Given the description of an element on the screen output the (x, y) to click on. 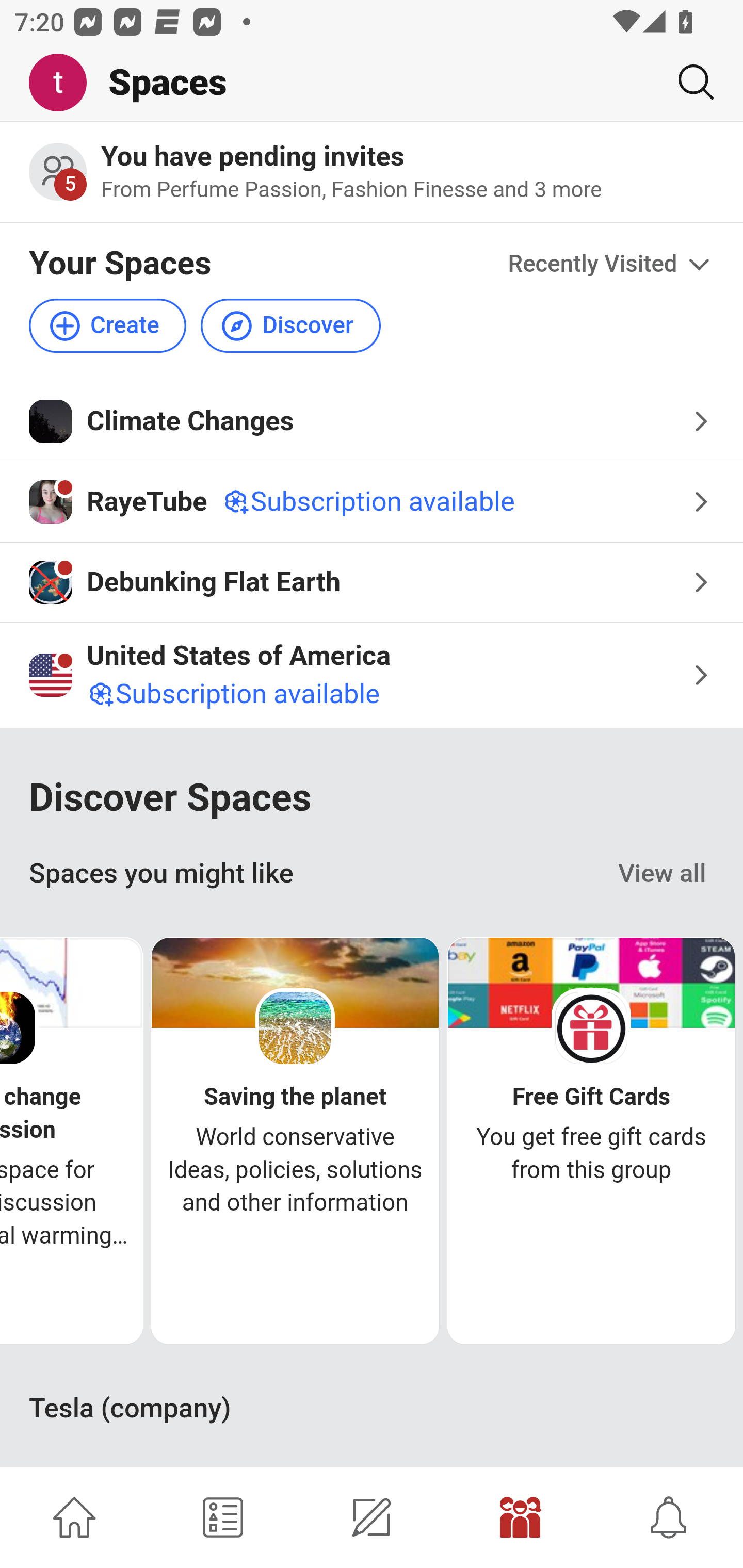
Me Spaces Search (371, 82)
Me (64, 83)
Search (688, 82)
Recently Visited (610, 264)
Create (107, 324)
Discover (289, 324)
Icon for Climate Changes Climate Changes (371, 421)
Icon for RayeTube RayeTube Subscription available (371, 502)
Icon for Debunking Flat Earth Debunking Flat Earth (371, 582)
View all (662, 873)
Saving the planet (294, 1097)
Free Gift Cards (591, 1097)
